Given the description of an element on the screen output the (x, y) to click on. 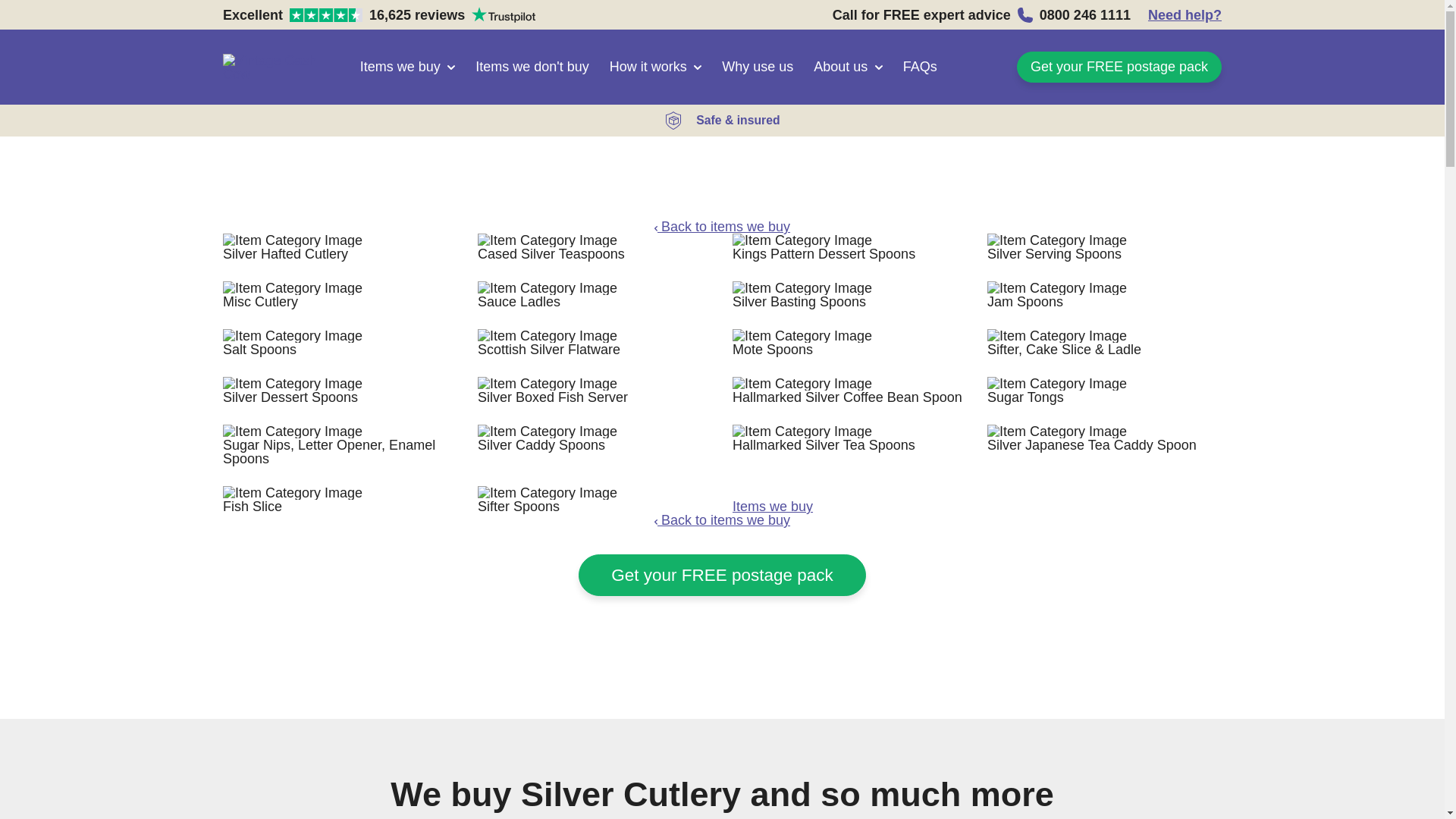
Back to items we buy (721, 226)
Get your FREE postage pack (378, 14)
Why use us (1118, 66)
Get your FREE postage pack (757, 66)
Get your FREE postage pack (722, 575)
How it works (722, 575)
Items we buy (655, 66)
About us (849, 513)
FAQs (847, 66)
Back to items we buy (919, 66)
Items we don't buy (721, 519)
Need help? (532, 66)
Items we buy (1184, 14)
